Given the description of an element on the screen output the (x, y) to click on. 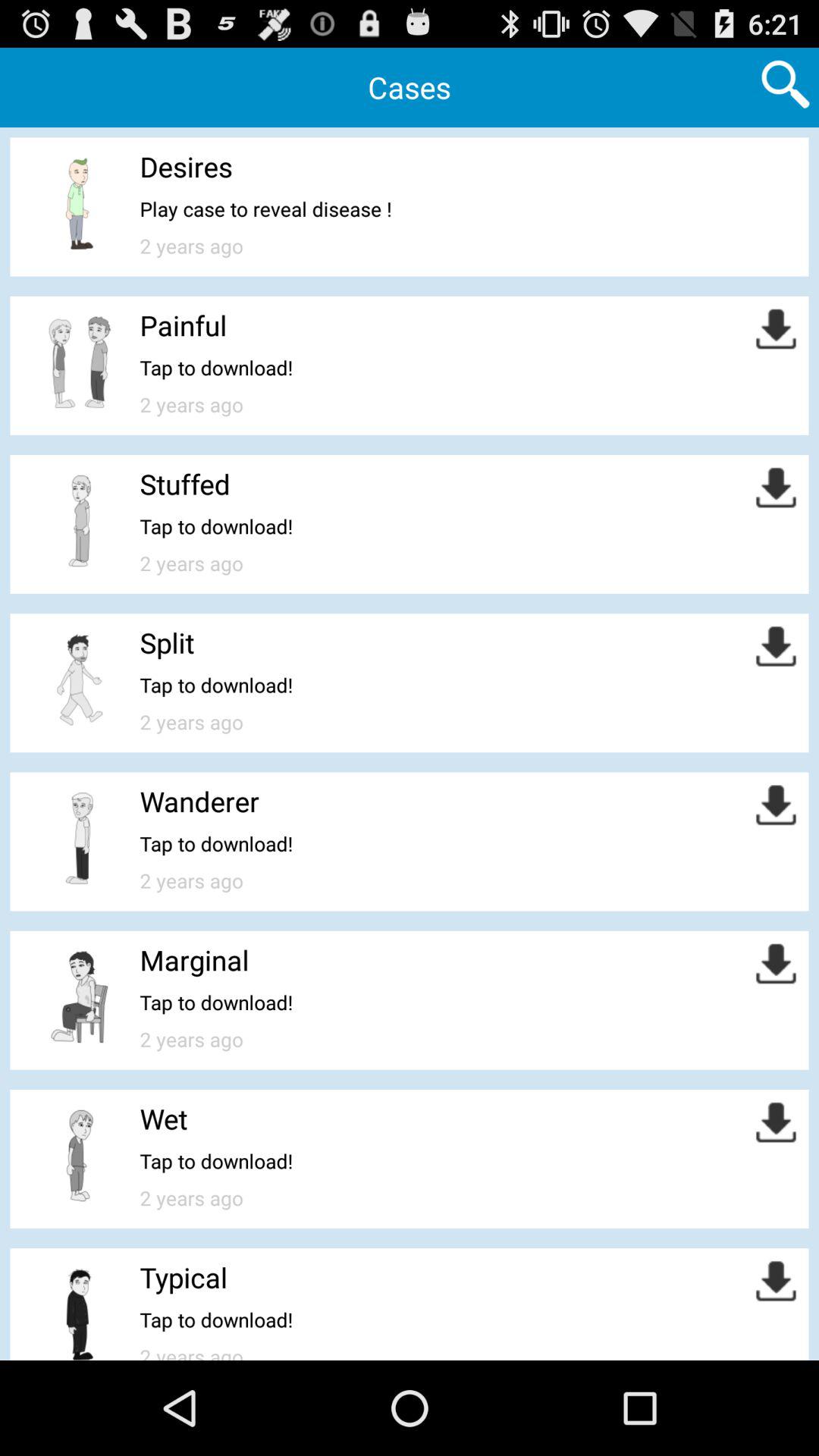
launch wanderer icon (199, 801)
